Given the description of an element on the screen output the (x, y) to click on. 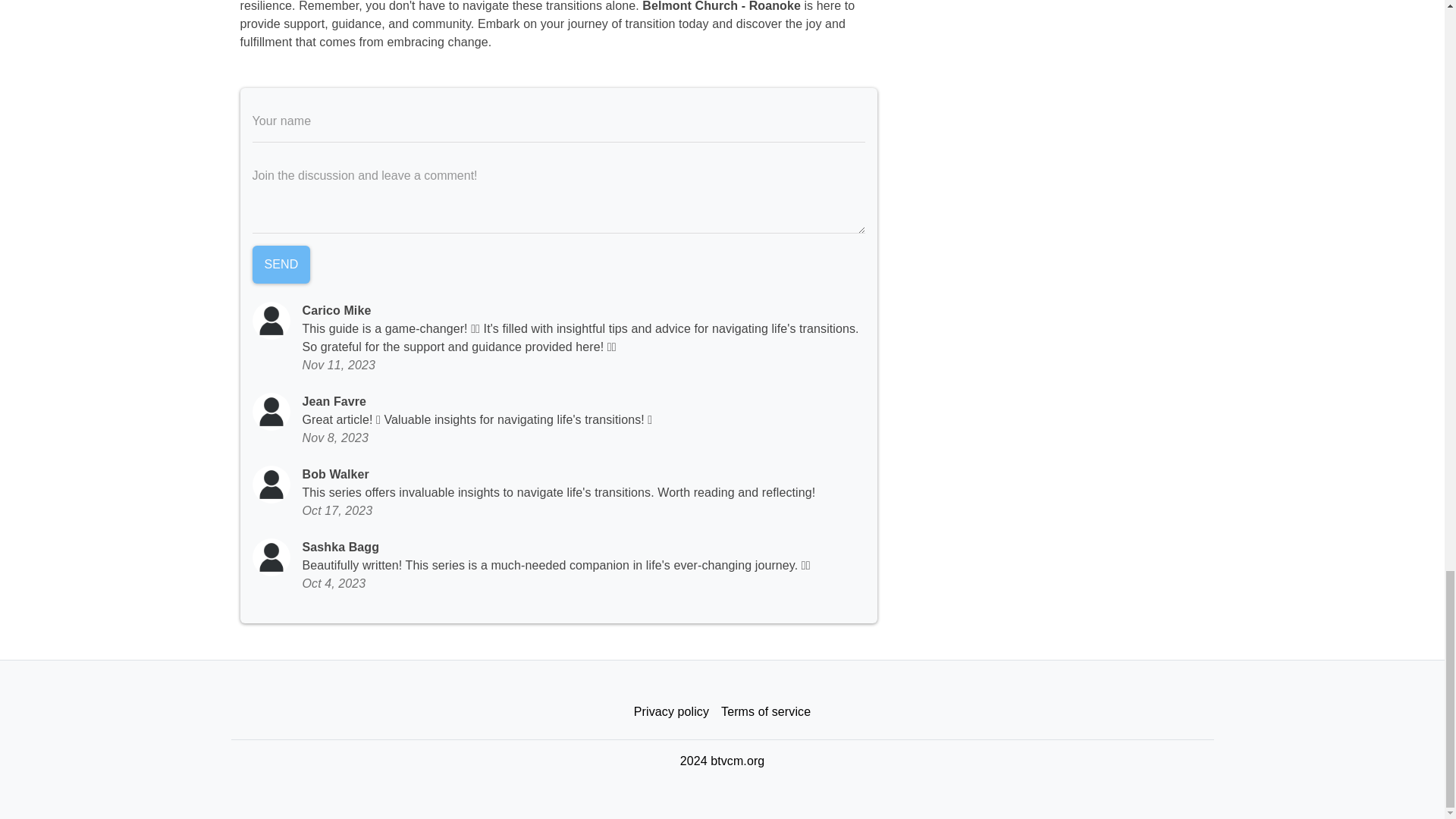
Privacy policy (670, 711)
Send (280, 264)
Send (280, 264)
Terms of service (765, 711)
